Given the description of an element on the screen output the (x, y) to click on. 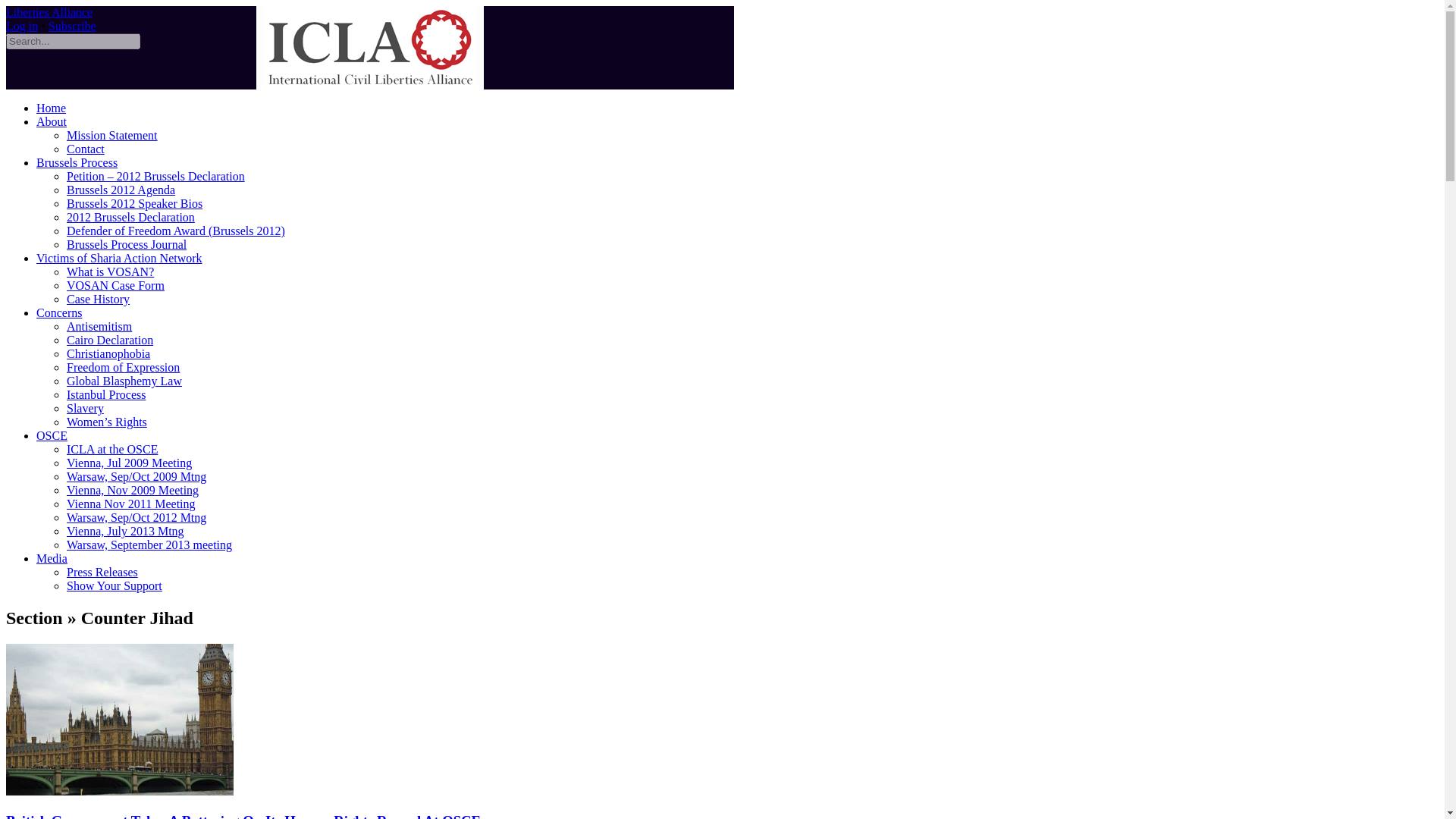
Brussels 2012 Agenda (120, 189)
Subscribe (72, 25)
Home (50, 107)
Slavery (84, 408)
Global Blasphemy Law (124, 380)
Vienna, Nov 2009 Meeting (132, 490)
Show Your Support (113, 585)
Search... (72, 41)
Mission Statement (111, 134)
